Given the description of an element on the screen output the (x, y) to click on. 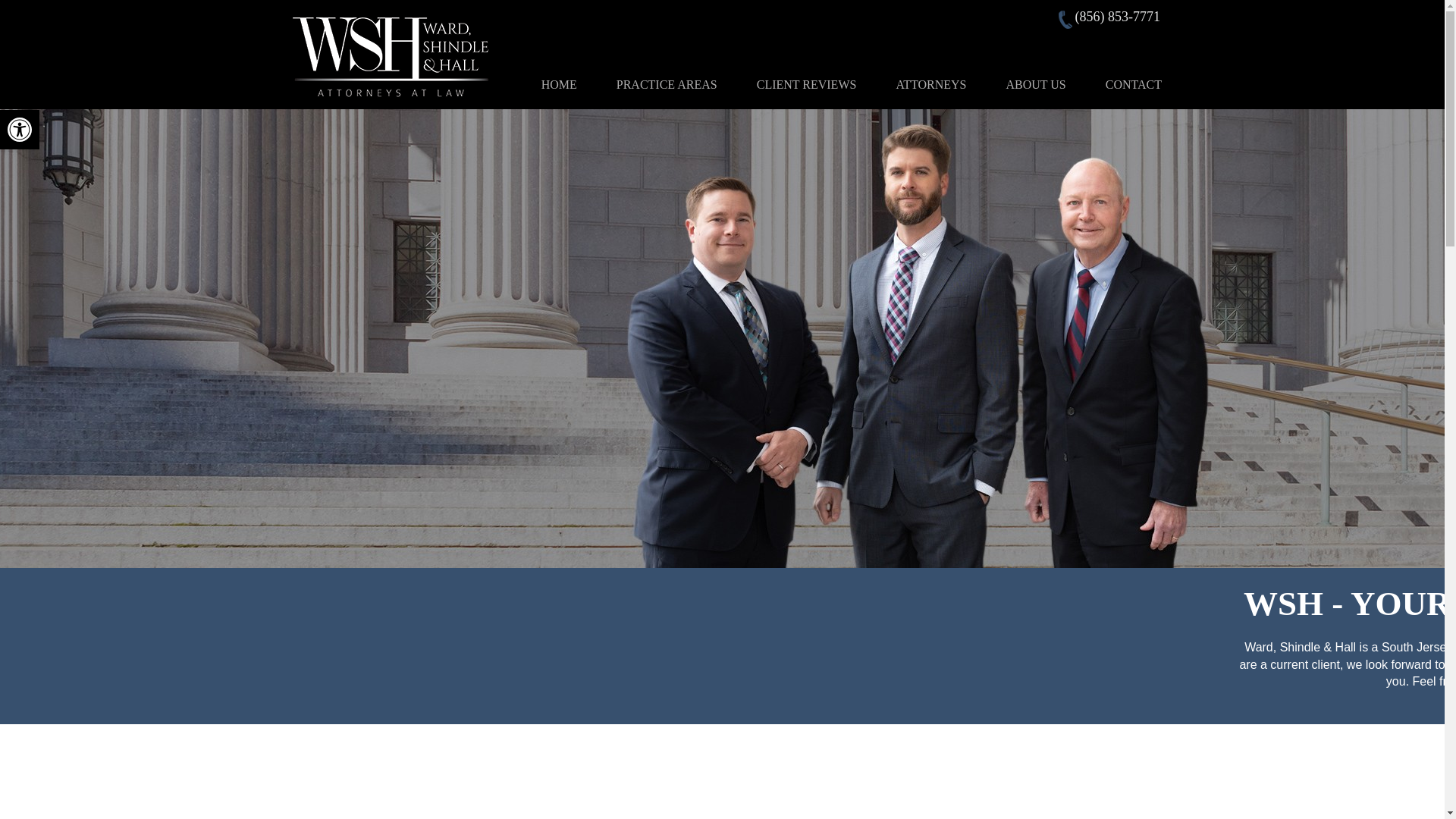
ABOUT US (19, 129)
Accessibility Tools (1034, 85)
CONTACT (19, 129)
PRACTICE AREAS (1133, 85)
HOME (666, 85)
ATTORNEYS (558, 85)
CLIENT REVIEWS (930, 85)
Accessibility Tools (806, 85)
